Given the description of an element on the screen output the (x, y) to click on. 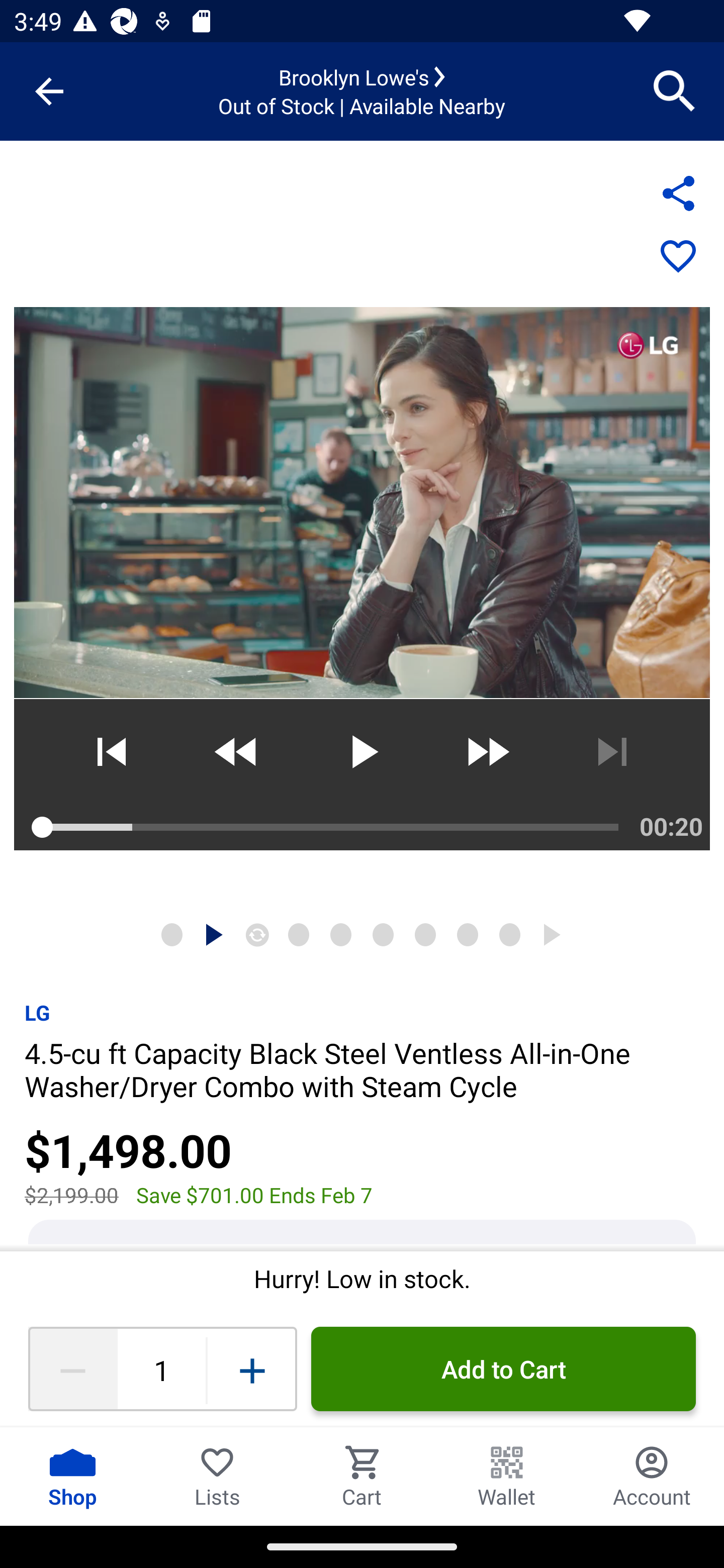
Navigate up (49, 91)
Search for products (674, 90)
Brooklyn Lowe's  Out of Stock | Available Nearby (361, 91)
Share (678, 193)
Save to List (678, 256)
Previous (110, 751)
Rewind (236, 751)
Play (361, 751)
Fast forward (486, 751)
Next (611, 751)
Decrease quantity (72, 1368)
1 (161, 1368)
Increase quantity (251, 1368)
Add to Cart (503, 1368)
Lists (216, 1475)
Cart (361, 1475)
Wallet (506, 1475)
Account (651, 1475)
